Given the description of an element on the screen output the (x, y) to click on. 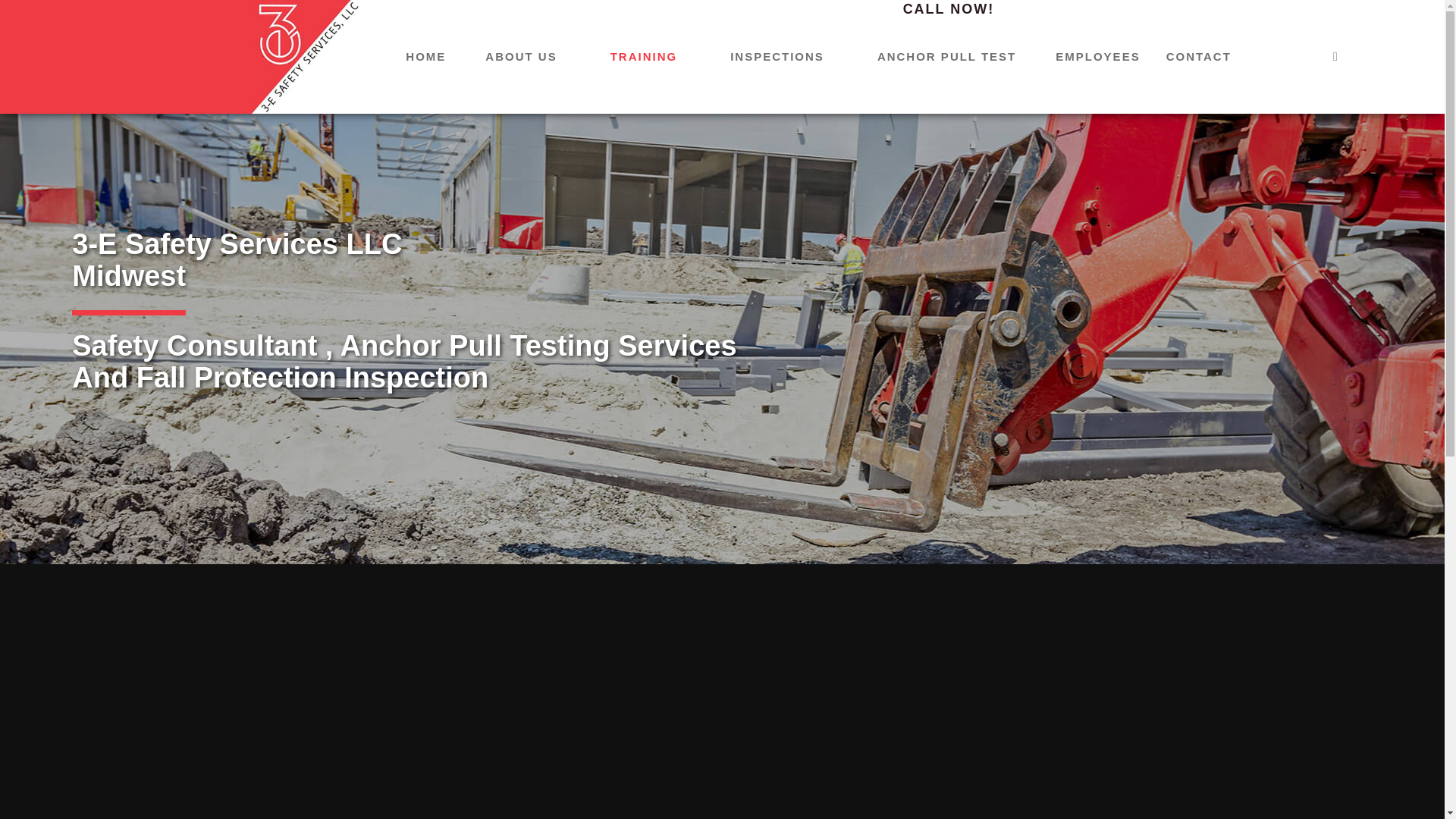
FALL PROTECTION Element type: text (643, 170)
ANCHOR PULL TEST Element type: text (946, 56)
TRAINING Element type: text (777, 94)
D.O.T. Element type: text (643, 360)
TESTING & EVALUATION TERMS Element type: text (946, 94)
O.S.H.A. Element type: text (643, 246)
FIRST AID CPR Element type: text (643, 398)
AERIAL LIFT Element type: text (643, 94)
10 HOUR O.S.H.A. Element type: text (643, 284)
EQUIPMENT Element type: text (643, 473)
SERVICE AREAS Element type: text (520, 94)
CALL NOW! Element type: text (948, 9)
INSPECTIONS Element type: text (777, 56)
EMPLOYEES Element type: text (1097, 56)
ABOUT US Element type: text (520, 56)
FORKLIFT Element type: text (643, 132)
30 HOUR O.S.H.A. Element type: text (643, 322)
SILICA Element type: text (643, 208)
TRAINING Element type: text (643, 56)
CONTACT Element type: text (1198, 56)
HOME Element type: text (425, 56)
C.E.R.T.A. Element type: text (643, 436)
WHAT TO PROOF TEST AND WHY Element type: text (946, 132)
